Given the description of an element on the screen output the (x, y) to click on. 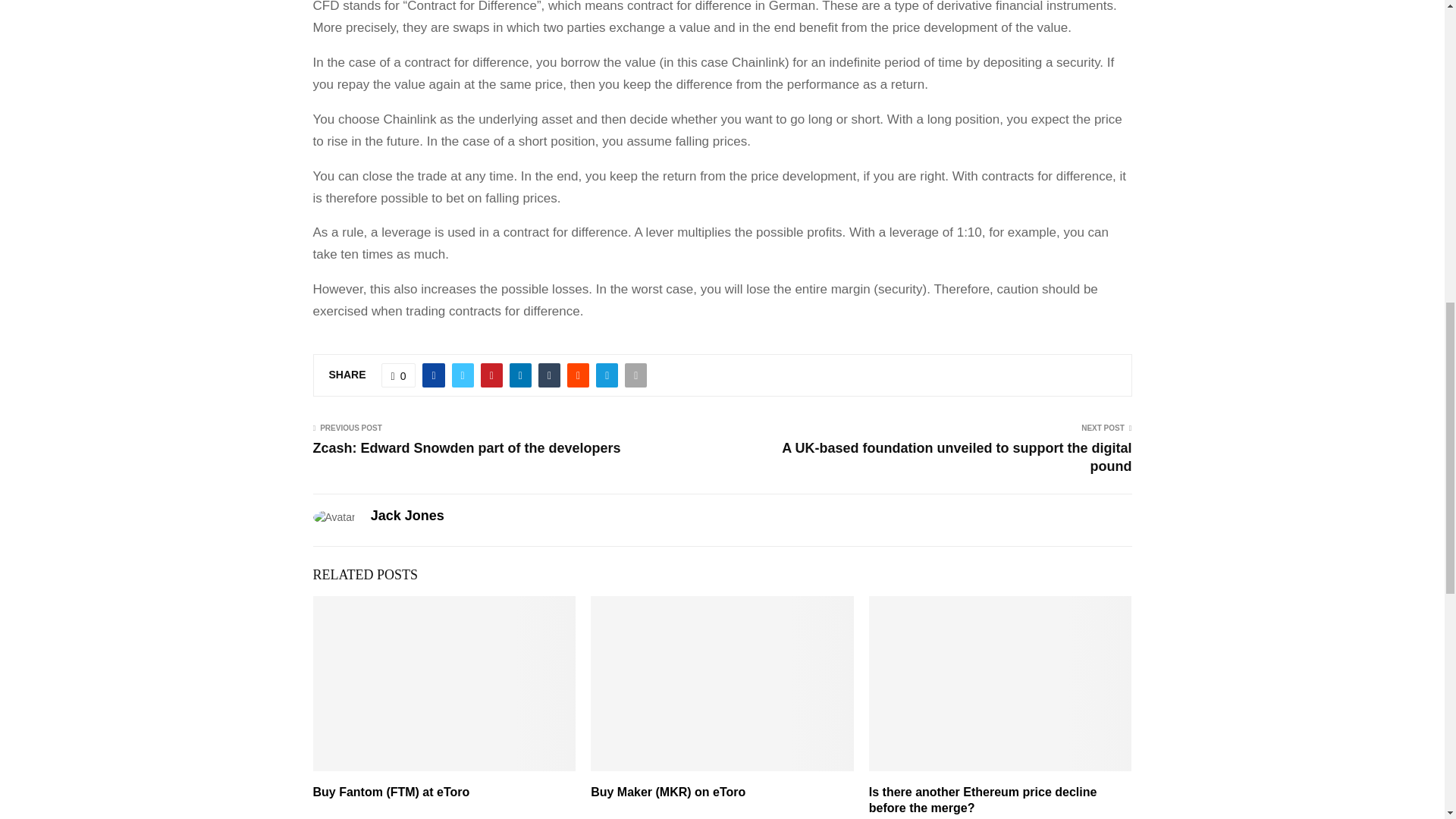
Like (398, 375)
Posts by Jack Jones (407, 515)
